Given the description of an element on the screen output the (x, y) to click on. 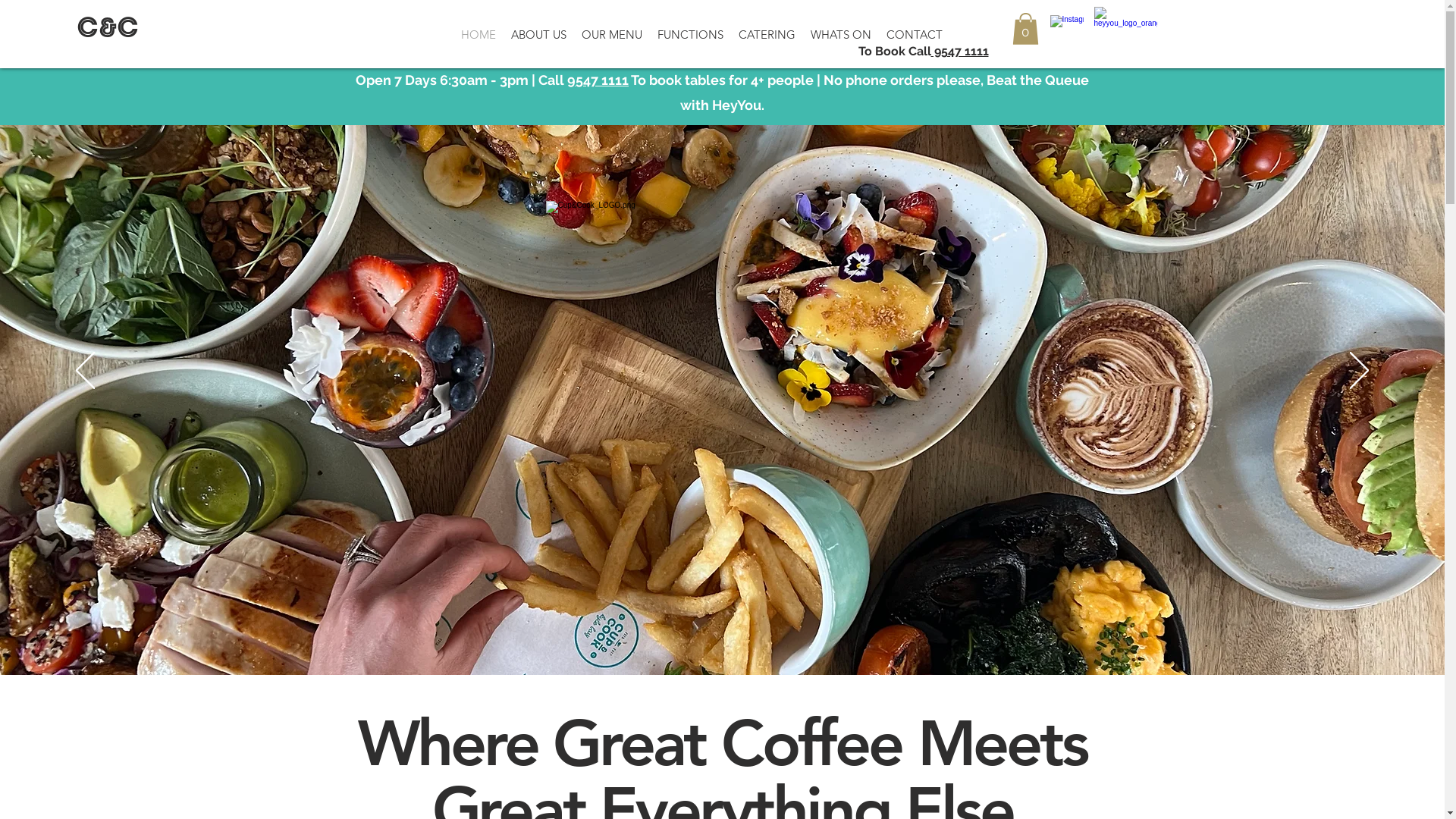
0 Element type: text (1024, 28)
C&C Element type: text (107, 29)
FUNCTIONS Element type: text (690, 34)
CATERING Element type: text (767, 34)
9547 1111 Element type: text (959, 50)
ABOUT US Element type: text (538, 34)
CONTACT Element type: text (914, 34)
HOME Element type: text (478, 34)
WHATS ON Element type: text (840, 34)
9547 1111 Element type: text (597, 79)
OUR MENU Element type: text (611, 34)
